Given the description of an element on the screen output the (x, y) to click on. 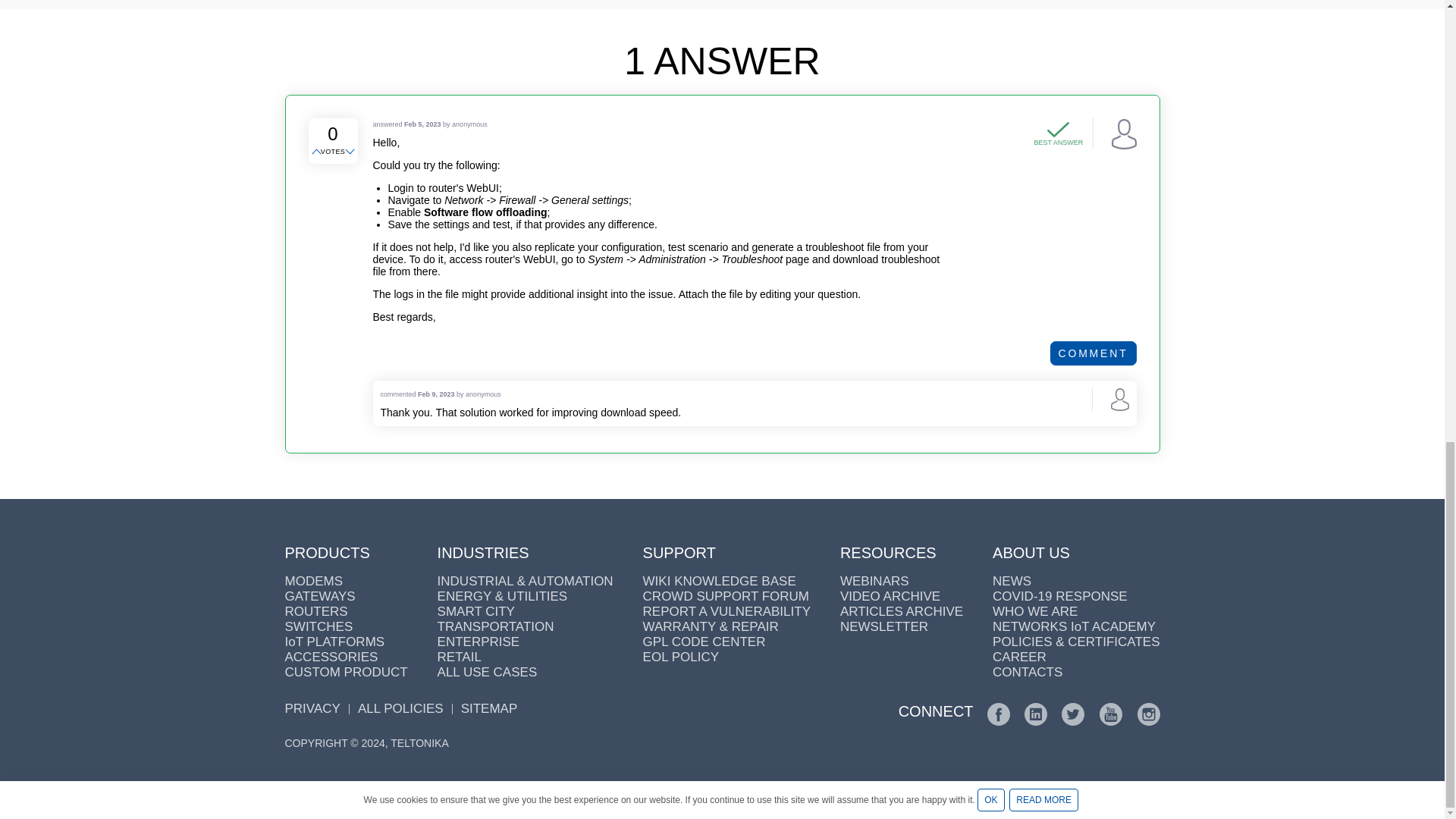
comment (1093, 353)
Click to vote up (317, 152)
Click to vote down (349, 152)
Add a comment on this answer (1093, 353)
